Given the description of an element on the screen output the (x, y) to click on. 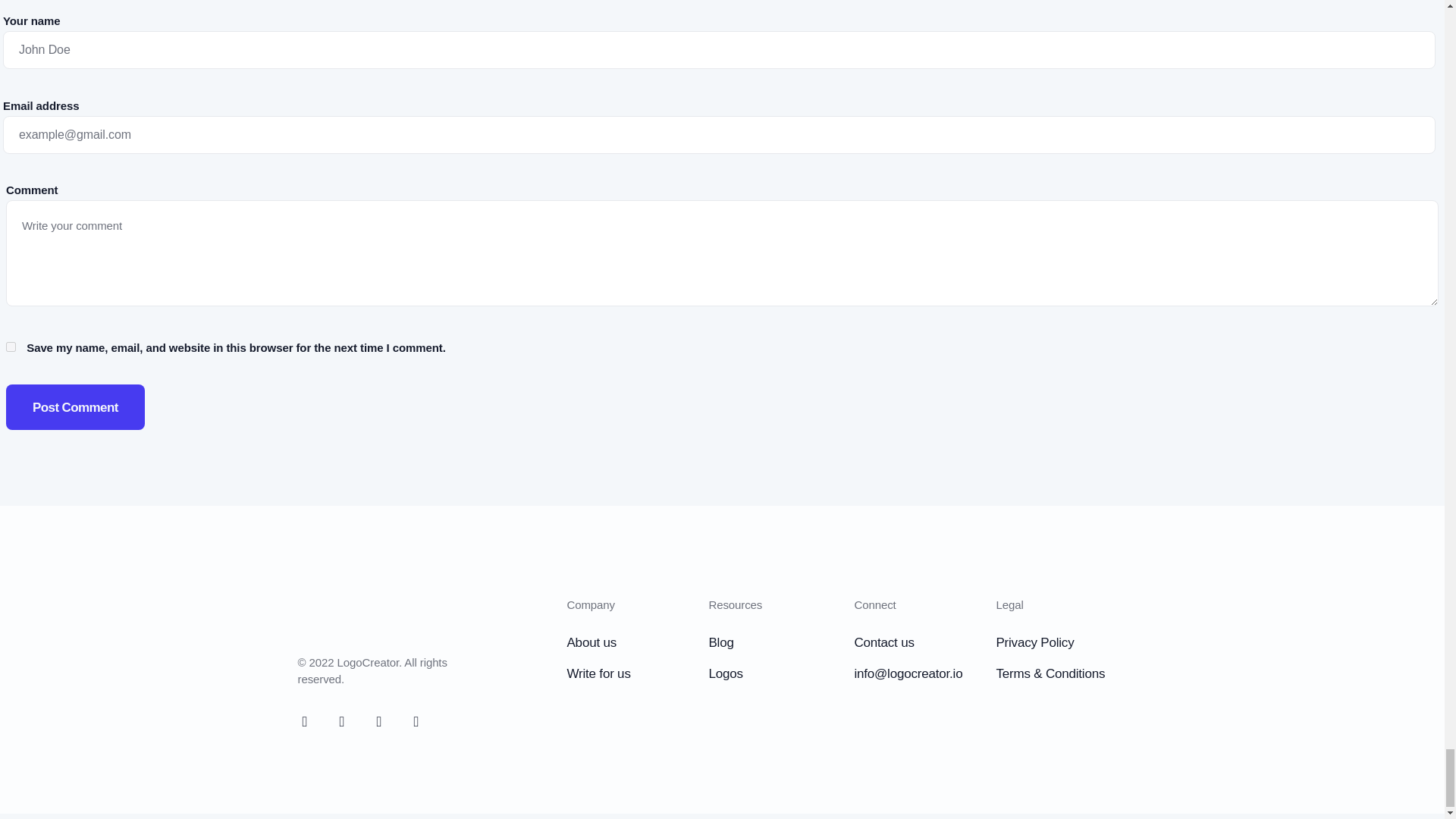
yes (10, 347)
Post Comment (74, 406)
